Given the description of an element on the screen output the (x, y) to click on. 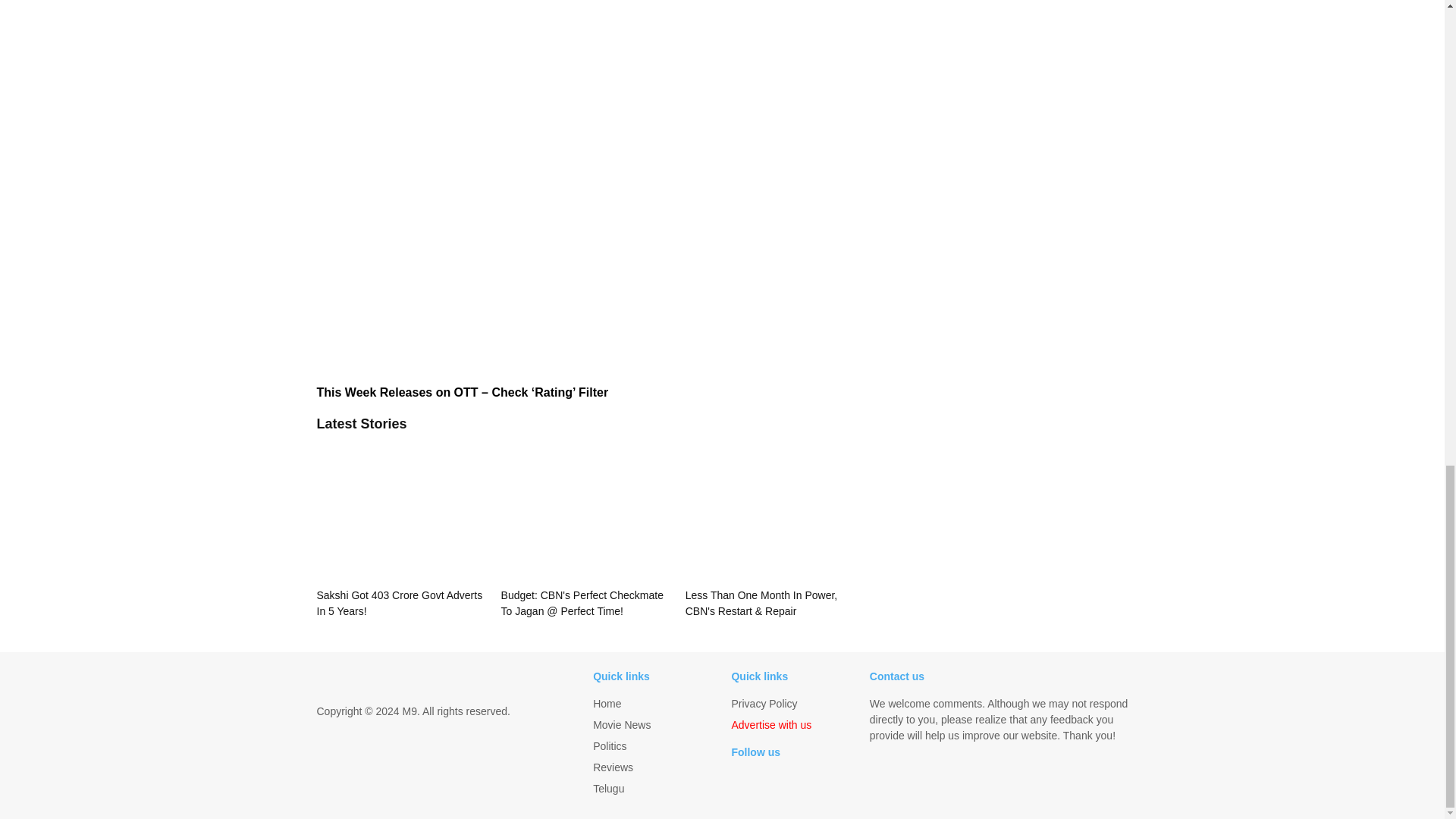
Sakshi Got 403 Crore Govt Adverts In 5 Years! (400, 529)
